Given the description of an element on the screen output the (x, y) to click on. 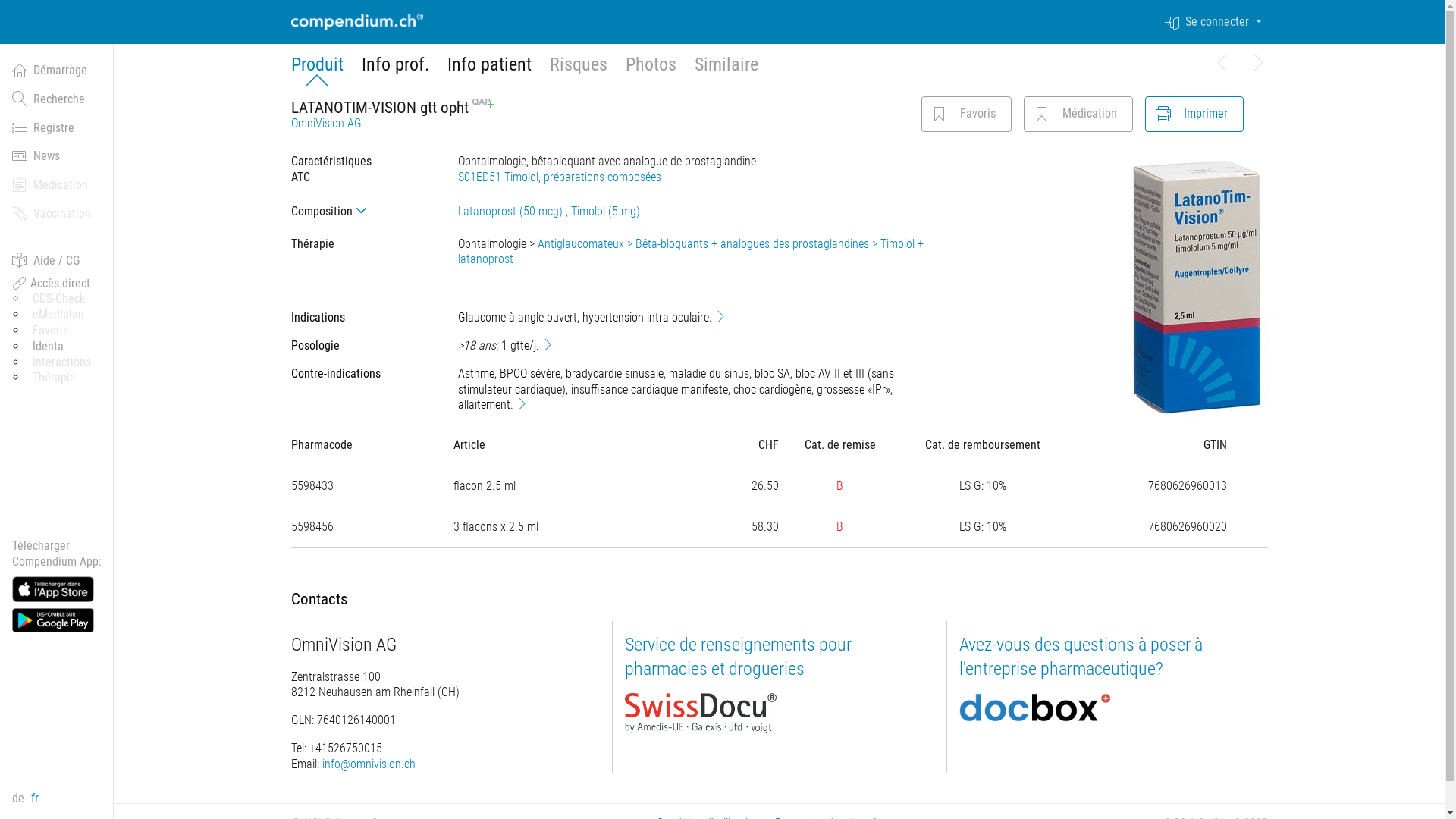
Antiglaucomateux > Element type: text (585, 243)
Risques Element type: text (577, 69)
Aide / CG Element type: text (56, 260)
News Element type: text (56, 155)
eMediplan Element type: text (58, 314)
Contre-indications Element type: hover (521, 403)
Vaccination Element type: text (56, 213)
Indications Element type: hover (720, 316)
Registre Element type: text (56, 127)
Photos Element type: text (649, 69)
Produit Element type: text (317, 69)
Recherche Element type: text (56, 98)
OmniVision AG Element type: text (326, 123)
Identa Element type: text (47, 345)
Info patient Element type: text (489, 69)
Medication Element type: text (56, 184)
Timolol + latanoprost Element type: text (690, 251)
Imprimer Element type: text (1194, 113)
Se connecter Element type: text (1215, 21)
Similaire Element type: text (726, 69)
Ouvrir Element type: hover (363, 211)
Posologie
>18 ans: 1 gtte/j. Element type: text (612, 346)
Interactions Element type: text (61, 361)
Favoris Element type: text (50, 330)
Service de renseignements pour pharmacies et drogueries Element type: text (737, 655)
Info prof. Element type: text (394, 69)
CDS-Check Element type: text (58, 298)
Favoris Element type: text (965, 113)
 Imprimer Element type: hover (1162, 113)
de Element type: text (21, 797)
Latanoprost (50 mcg) , Element type: text (514, 210)
Favoris Element type: hover (939, 113)
Posologie Element type: hover (547, 344)
Timolol (5 mg) Element type: text (604, 210)
info@omnivision.ch Element type: text (367, 763)
Composition Element type: text (362, 210)
